Given the description of an element on the screen output the (x, y) to click on. 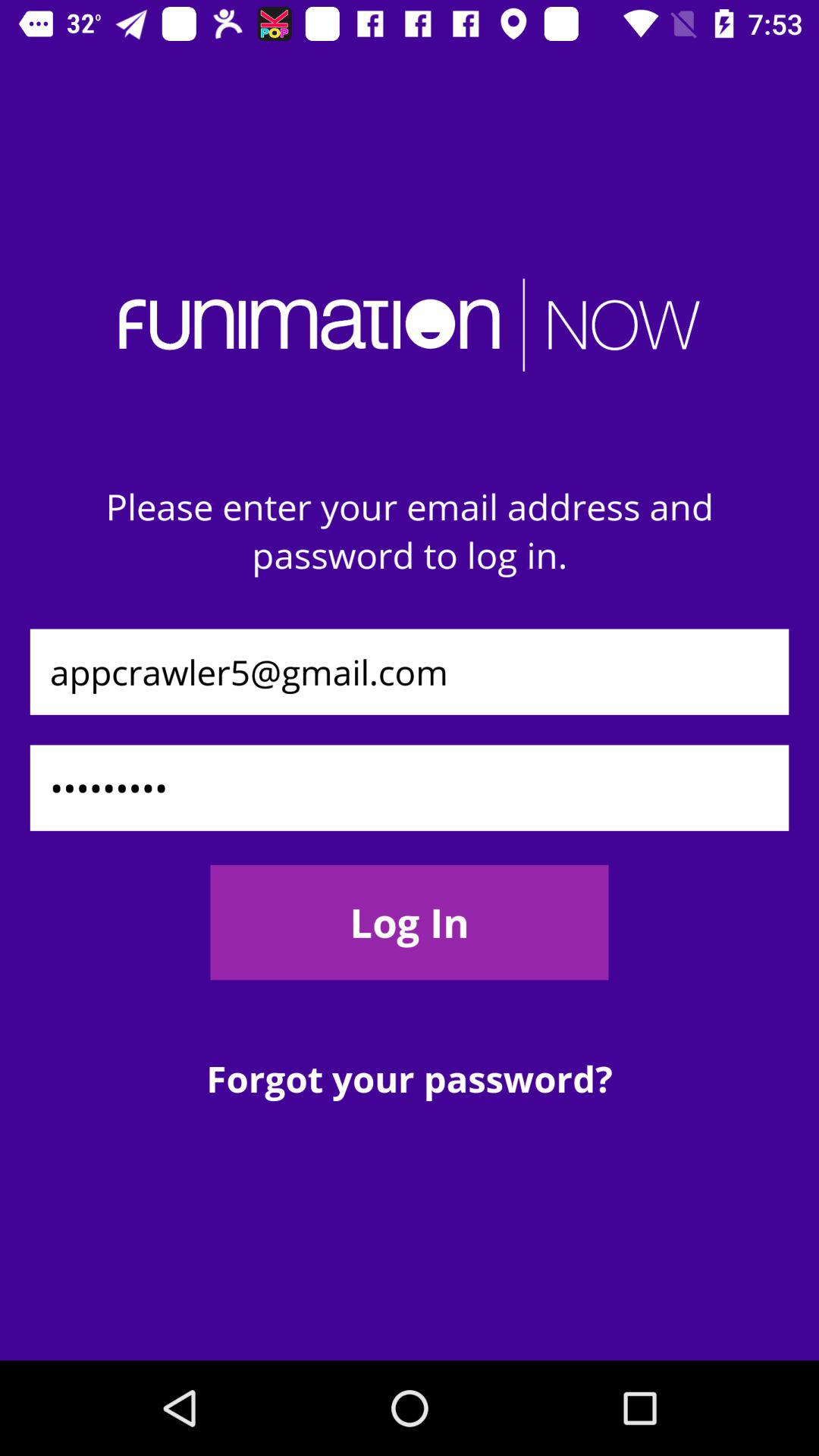
click the icon below appcrawler5@gmail.com item (409, 787)
